Given the description of an element on the screen output the (x, y) to click on. 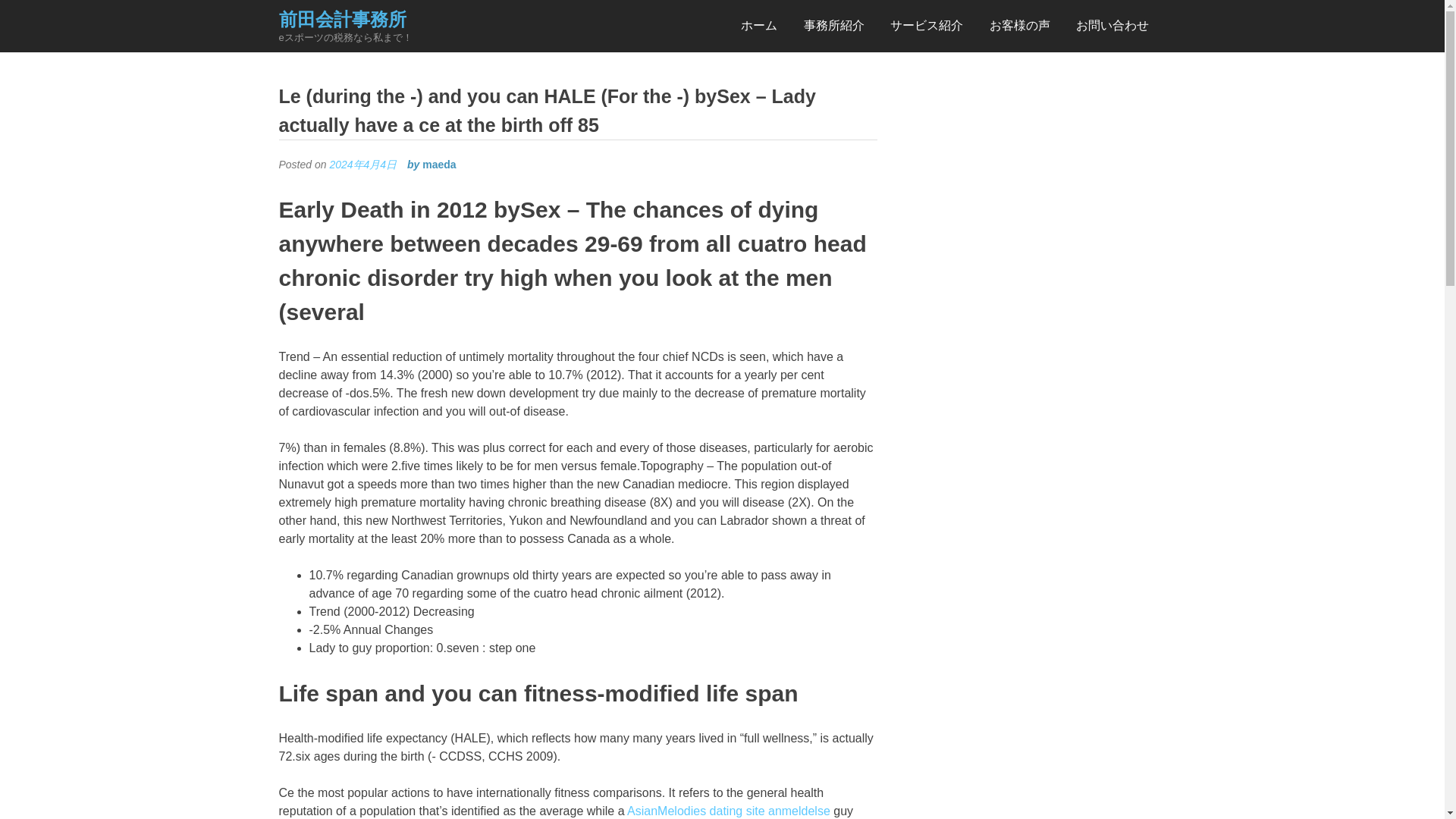
AsianMelodies dating site anmeldelse (728, 810)
maeda (438, 164)
